Given the description of an element on the screen output the (x, y) to click on. 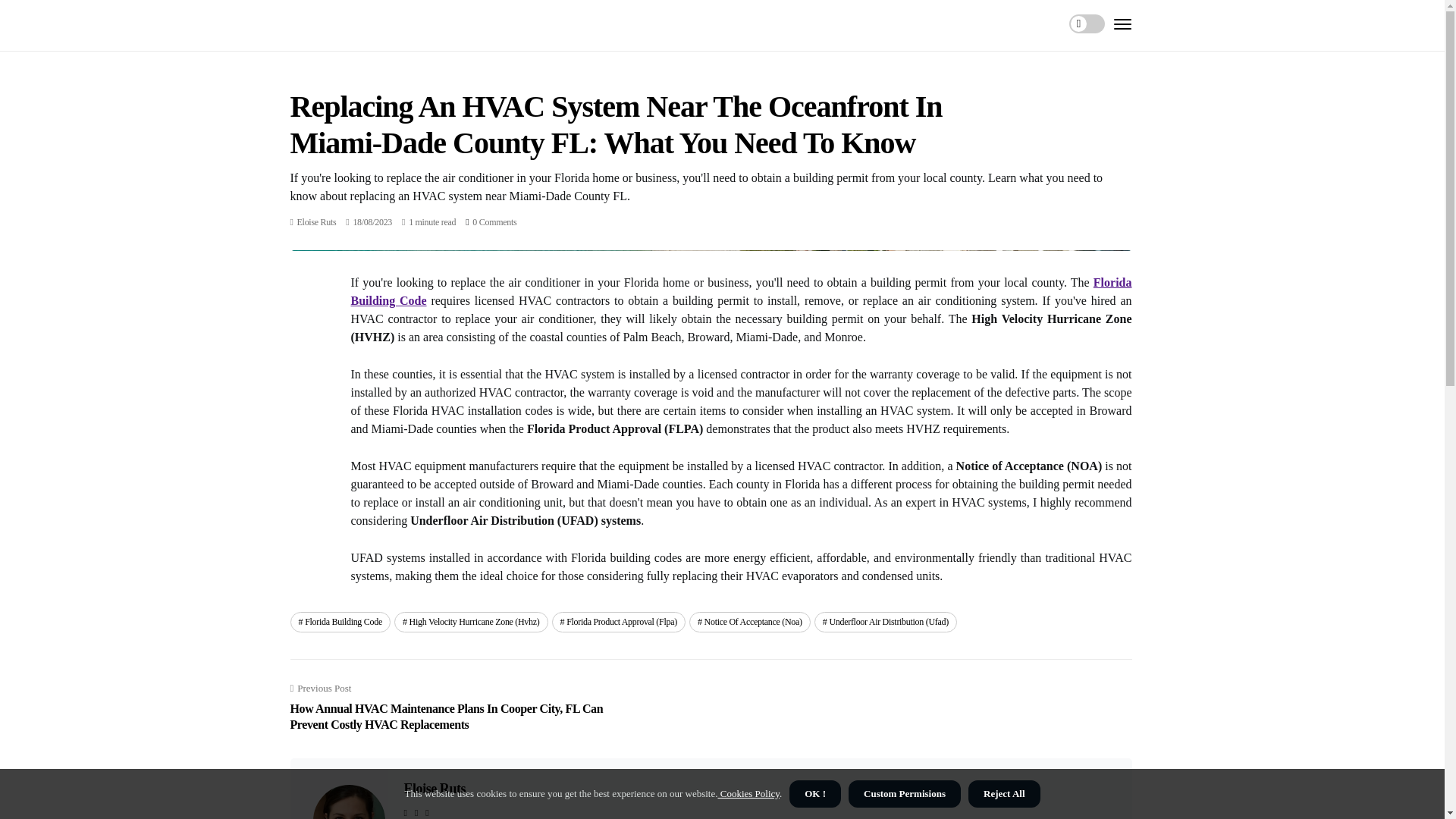
0 Comments (493, 222)
Eloise Ruts (316, 222)
Eloise Ruts (434, 788)
Florida Building Code (740, 291)
Florida Building Code (339, 621)
Posts by Eloise Ruts (316, 222)
